Given the description of an element on the screen output the (x, y) to click on. 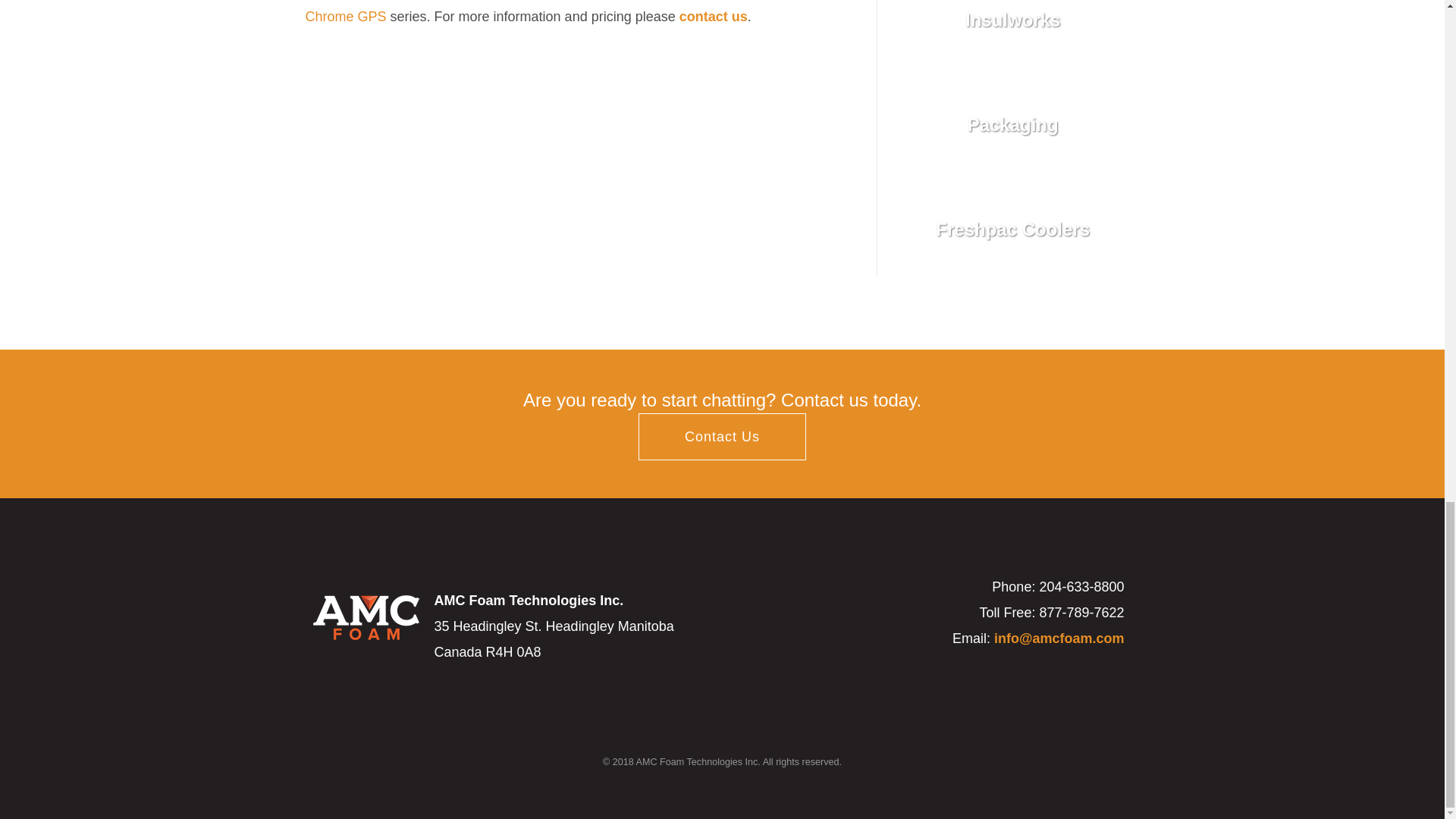
LOGIX Chrome GPS (572, 12)
Packaging (1013, 124)
Insulworks (1013, 33)
Contact Us (722, 436)
Freshpac Coolers (1013, 229)
contact us (713, 16)
